Given the description of an element on the screen output the (x, y) to click on. 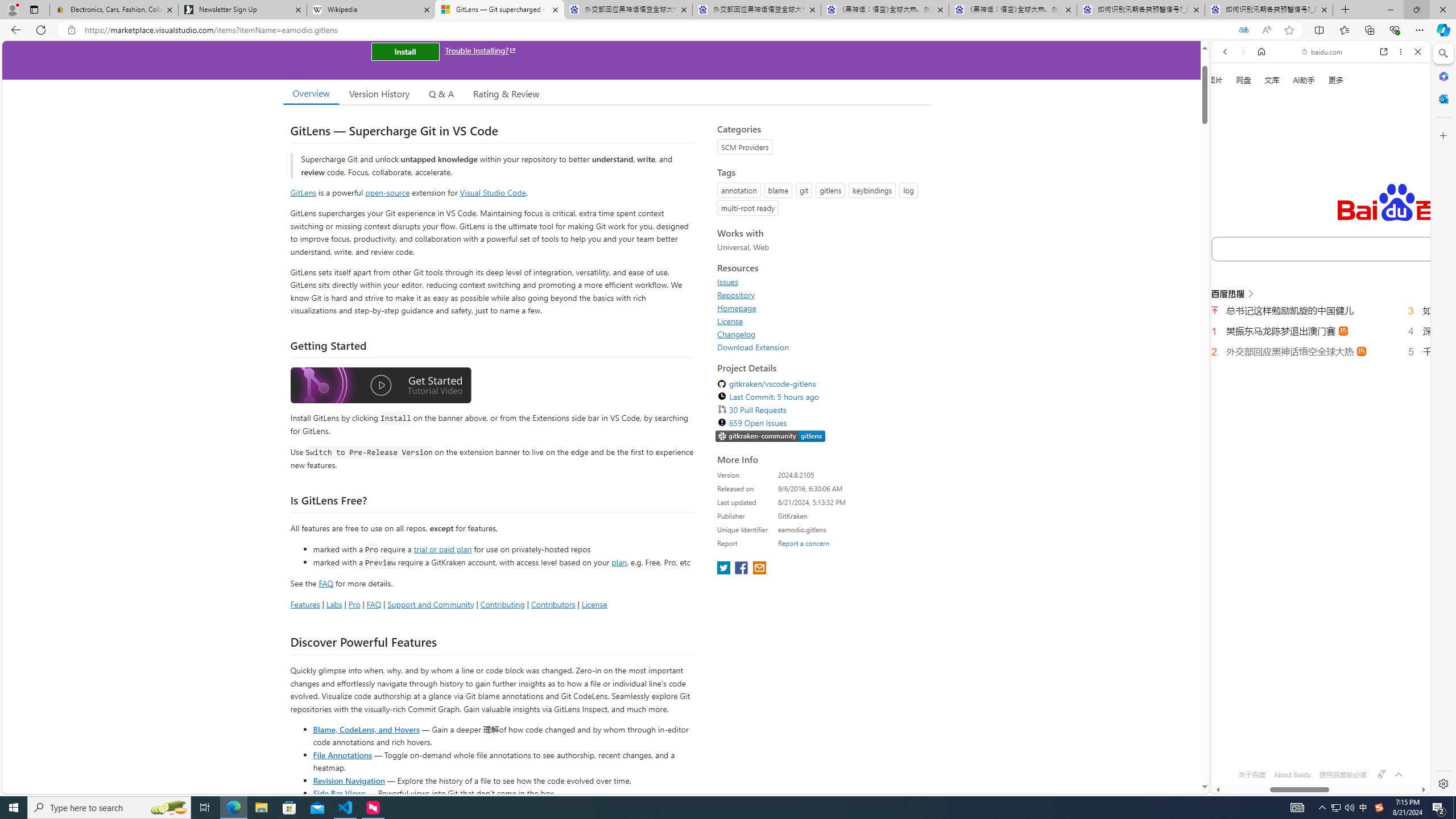
share extension on email (759, 568)
Cambridge Dictionary (1315, 397)
Watch the GitLens Getting Started video (380, 387)
Revision Navigation (348, 780)
